Given the description of an element on the screen output the (x, y) to click on. 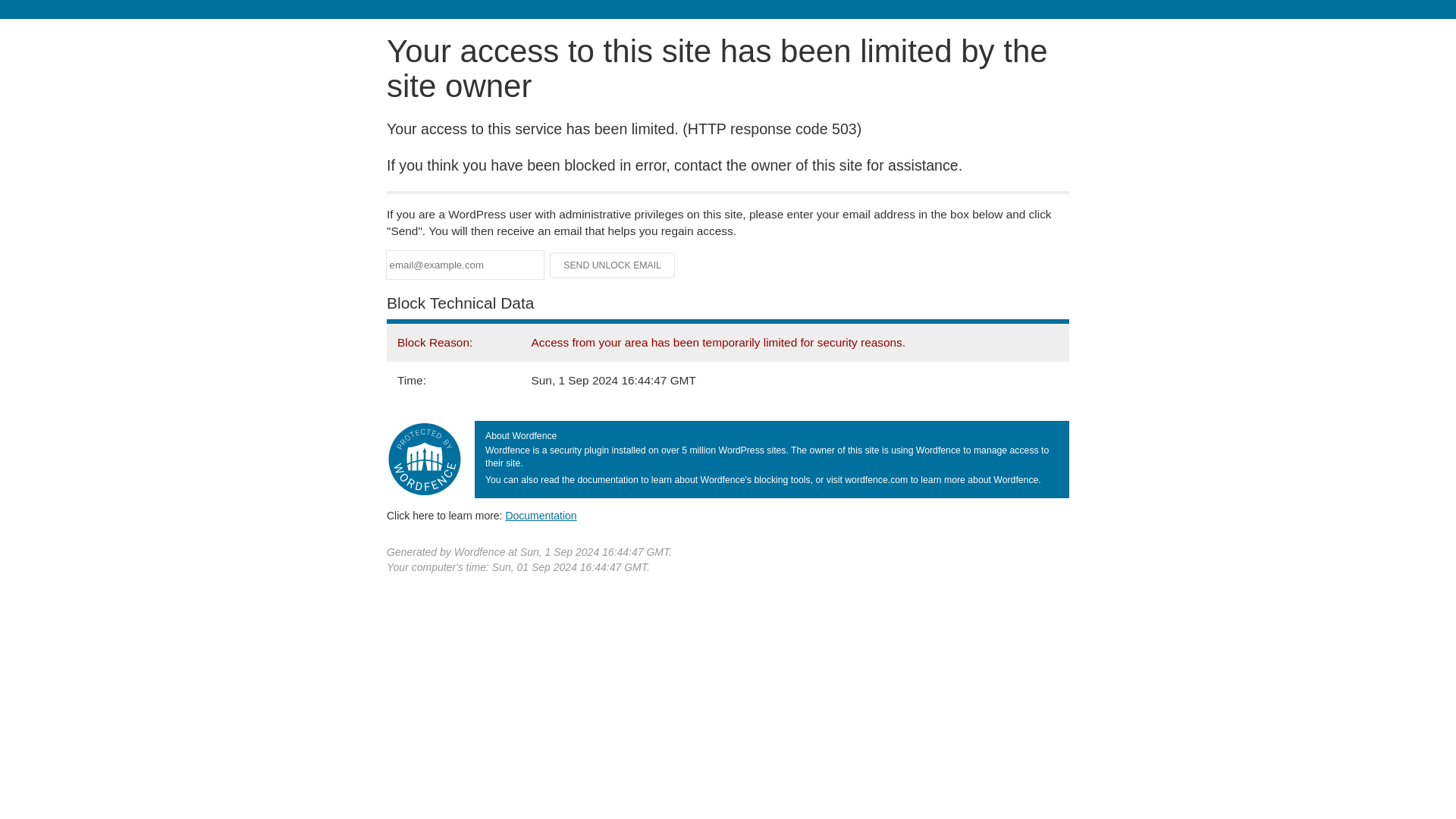
Send Unlock Email (612, 265)
Send Unlock Email (612, 265)
Documentation (540, 515)
